Given the description of an element on the screen output the (x, y) to click on. 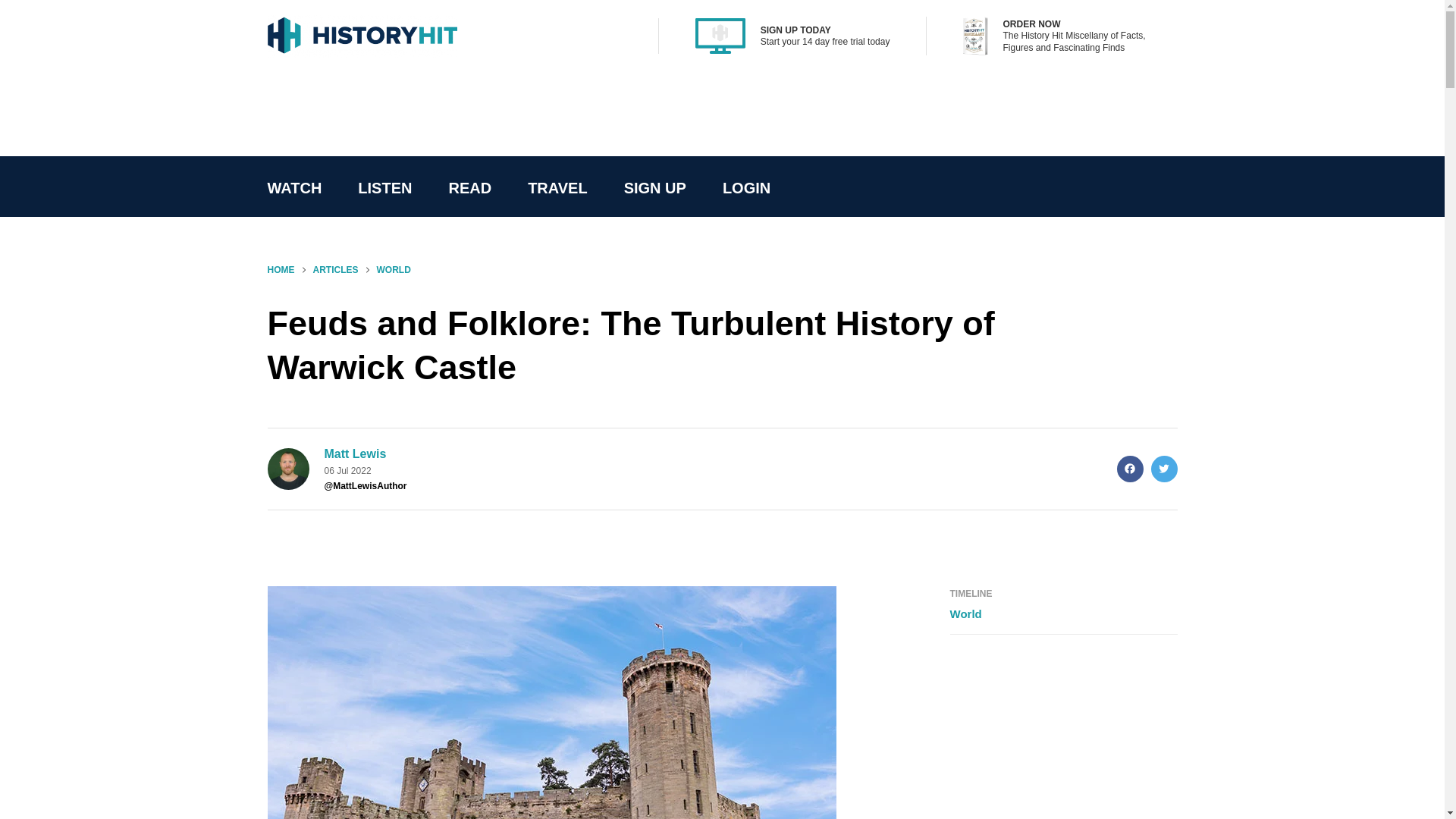
WATCH (293, 187)
LISTEN (384, 187)
Start your 14 day free trial today (824, 41)
SIGN UP TODAY (795, 30)
ORDER NOW (1031, 23)
READ (469, 187)
